Given the description of an element on the screen output the (x, y) to click on. 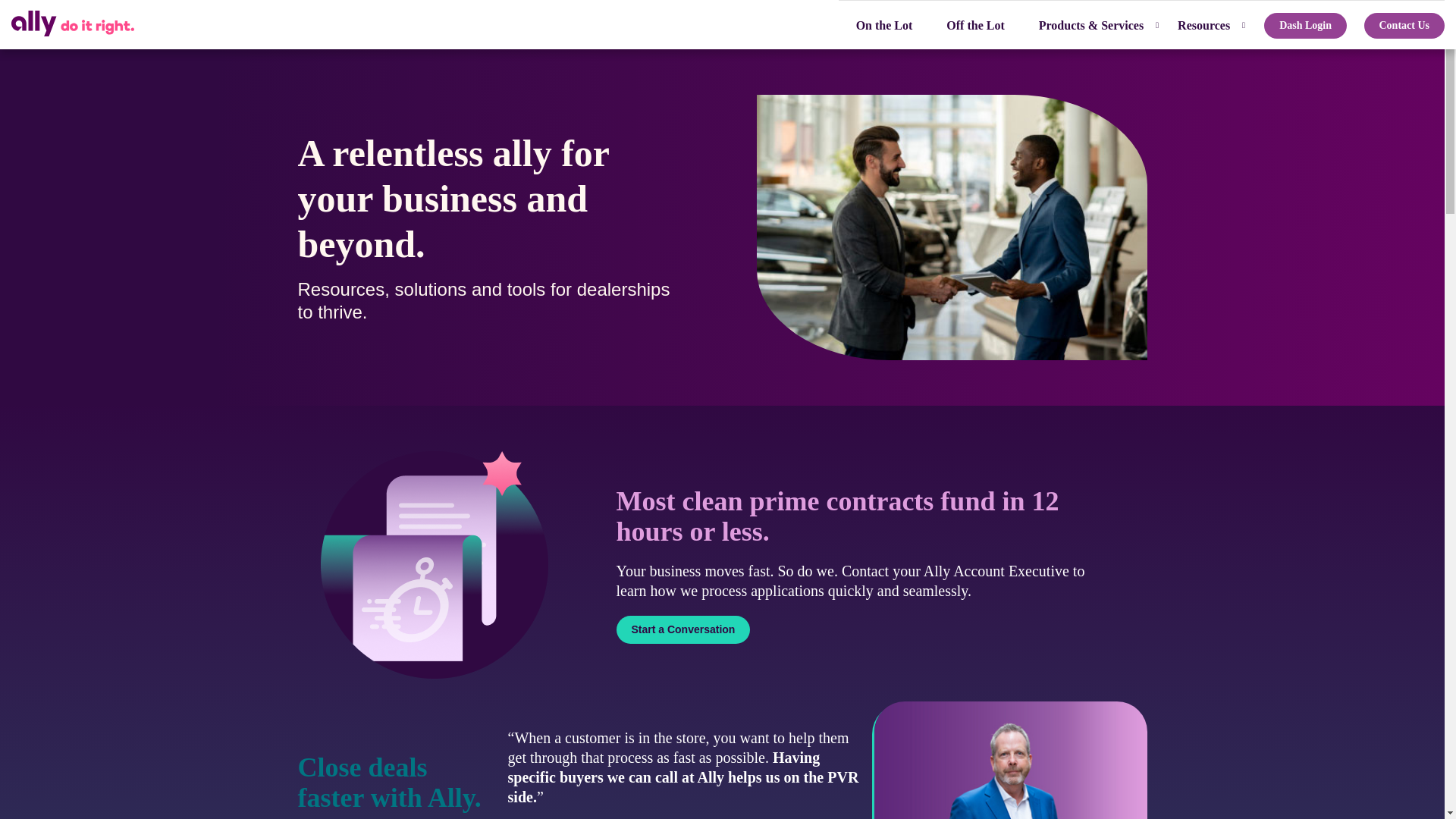
Off the Lot (974, 24)
Start a Conversation (682, 628)
On the Lot (884, 24)
Resources (1203, 24)
Ally Dealer Beyond Homepage (72, 24)
Dash Login (1304, 24)
Contact Us (1403, 24)
